Given the description of an element on the screen output the (x, y) to click on. 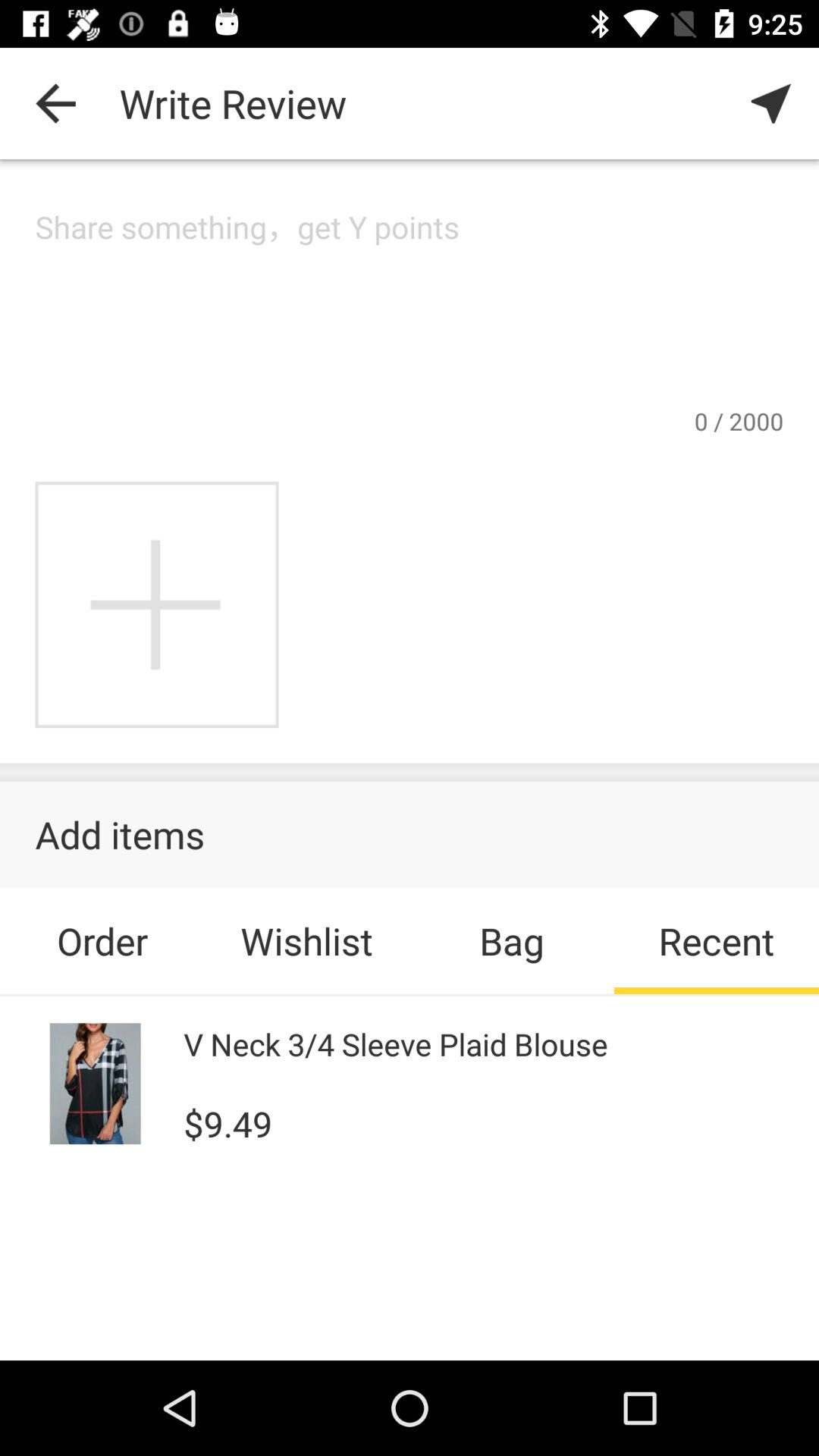
turn on app to the right of write review app (771, 103)
